Given the description of an element on the screen output the (x, y) to click on. 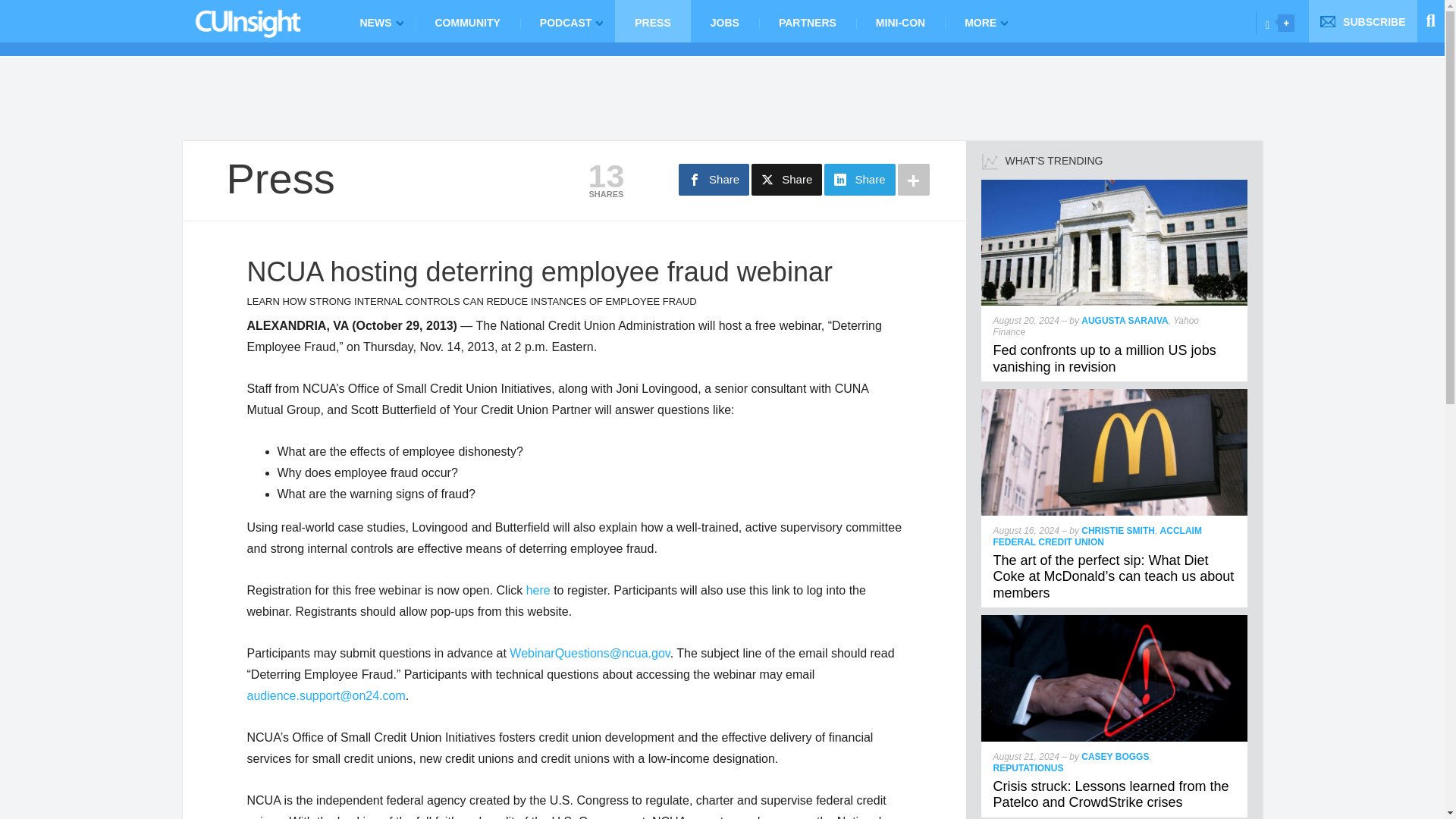
COMMUNITY (466, 21)
Press (279, 178)
SUBSCRIBE (1362, 21)
Share (713, 179)
PRESS (652, 21)
PODCAST (566, 21)
Fed confronts up to a million US jobs vanishing in revision (1103, 358)
MINI-CON (900, 21)
